Given the description of an element on the screen output the (x, y) to click on. 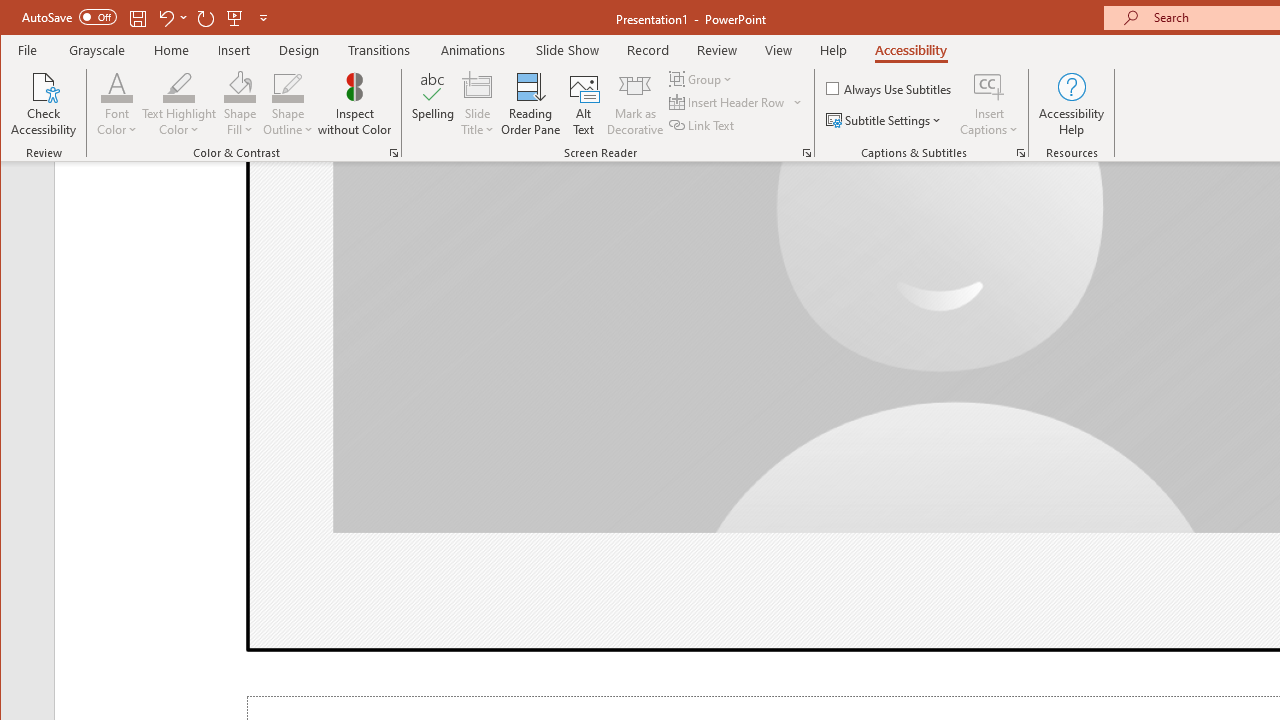
Reading Order Pane (531, 104)
Mark as Decorative (635, 104)
Captions & Subtitles (1020, 152)
